Given the description of an element on the screen output the (x, y) to click on. 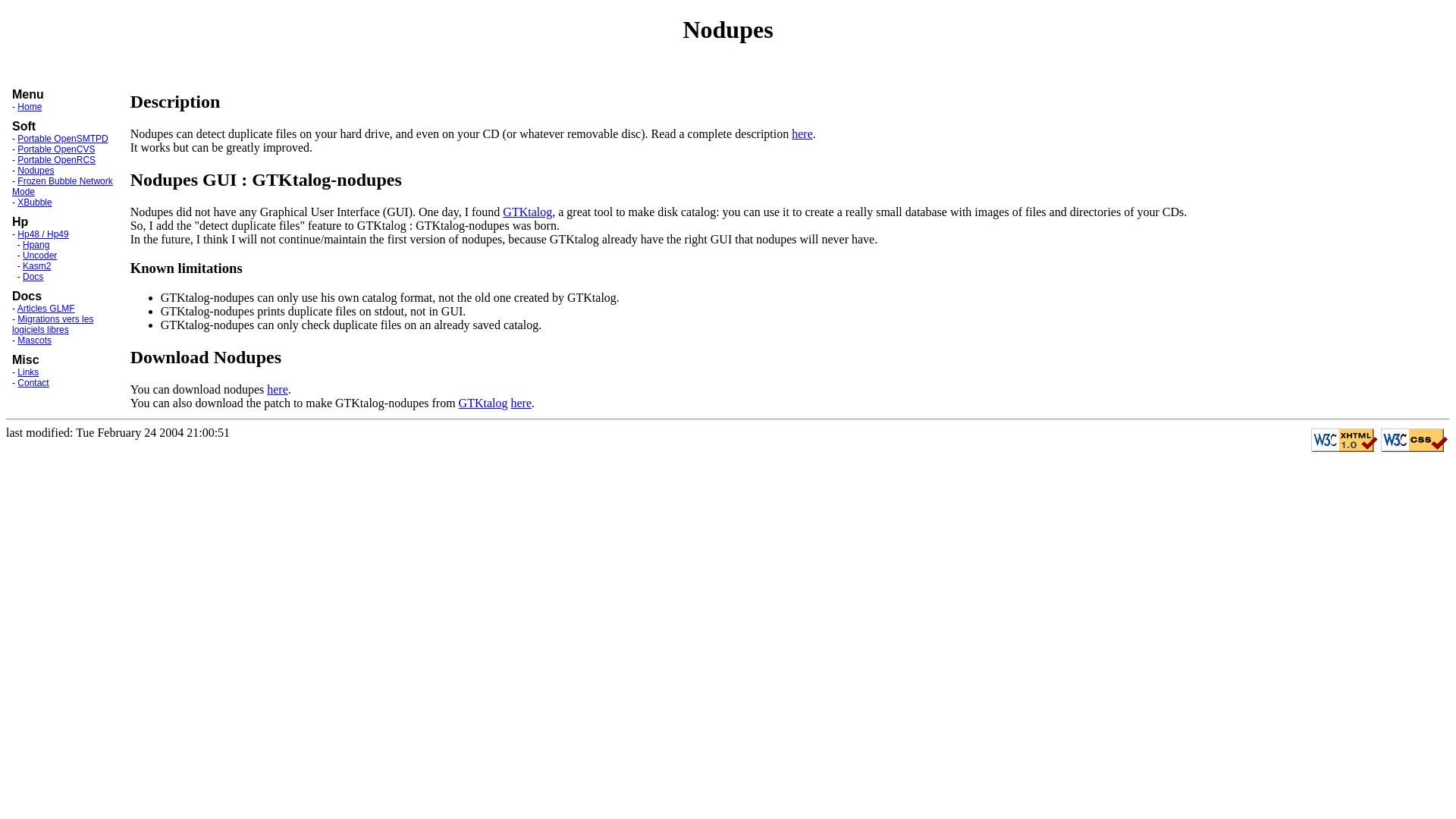
Portable OpenSMTPD Element type: text (62, 138)
Portable OpenCVS Element type: text (55, 149)
Links Element type: text (27, 372)
Portable OpenRCS Element type: text (56, 159)
Hp48 / Hp49 Element type: text (42, 234)
Migrations vers les logiciels libres Element type: text (52, 324)
Mascots Element type: text (34, 340)
GTKtalog Element type: text (483, 402)
GTKtalog Element type: text (527, 210)
here Element type: text (801, 133)
XBubble Element type: text (34, 202)
Articles GLMF Element type: text (46, 308)
here Element type: text (520, 402)
Contact Element type: text (32, 382)
here Element type: text (277, 388)
Hpang Element type: text (35, 244)
Nodupes Element type: text (35, 170)
Docs Element type: text (32, 276)
Kasm2 Element type: text (36, 265)
Home Element type: text (29, 106)
Frozen Bubble Network Mode Element type: text (62, 186)
Uncoder Element type: text (39, 255)
